Given the description of an element on the screen output the (x, y) to click on. 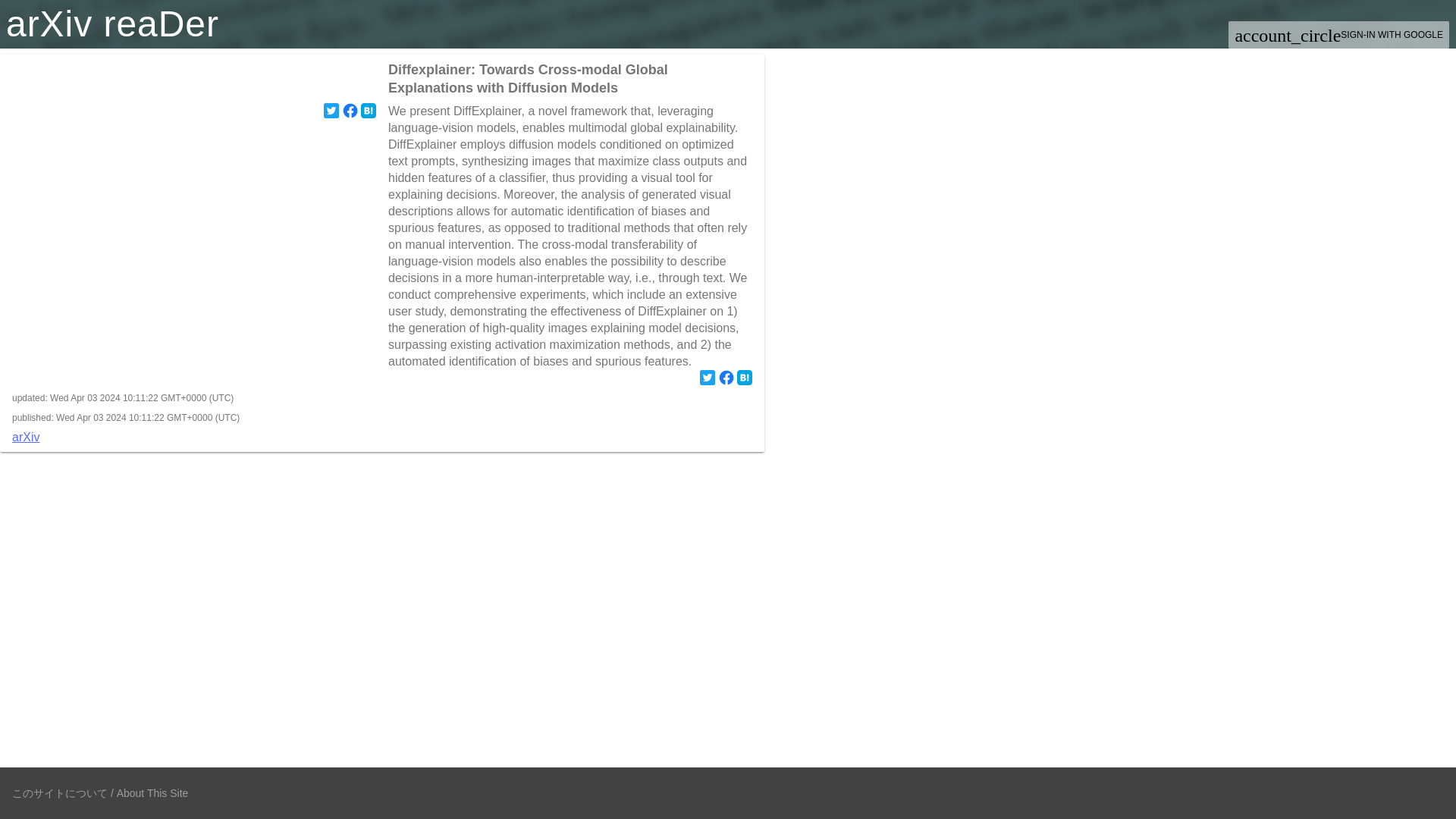
arXiv (381, 437)
arXiv reaDer (112, 23)
